Given the description of an element on the screen output the (x, y) to click on. 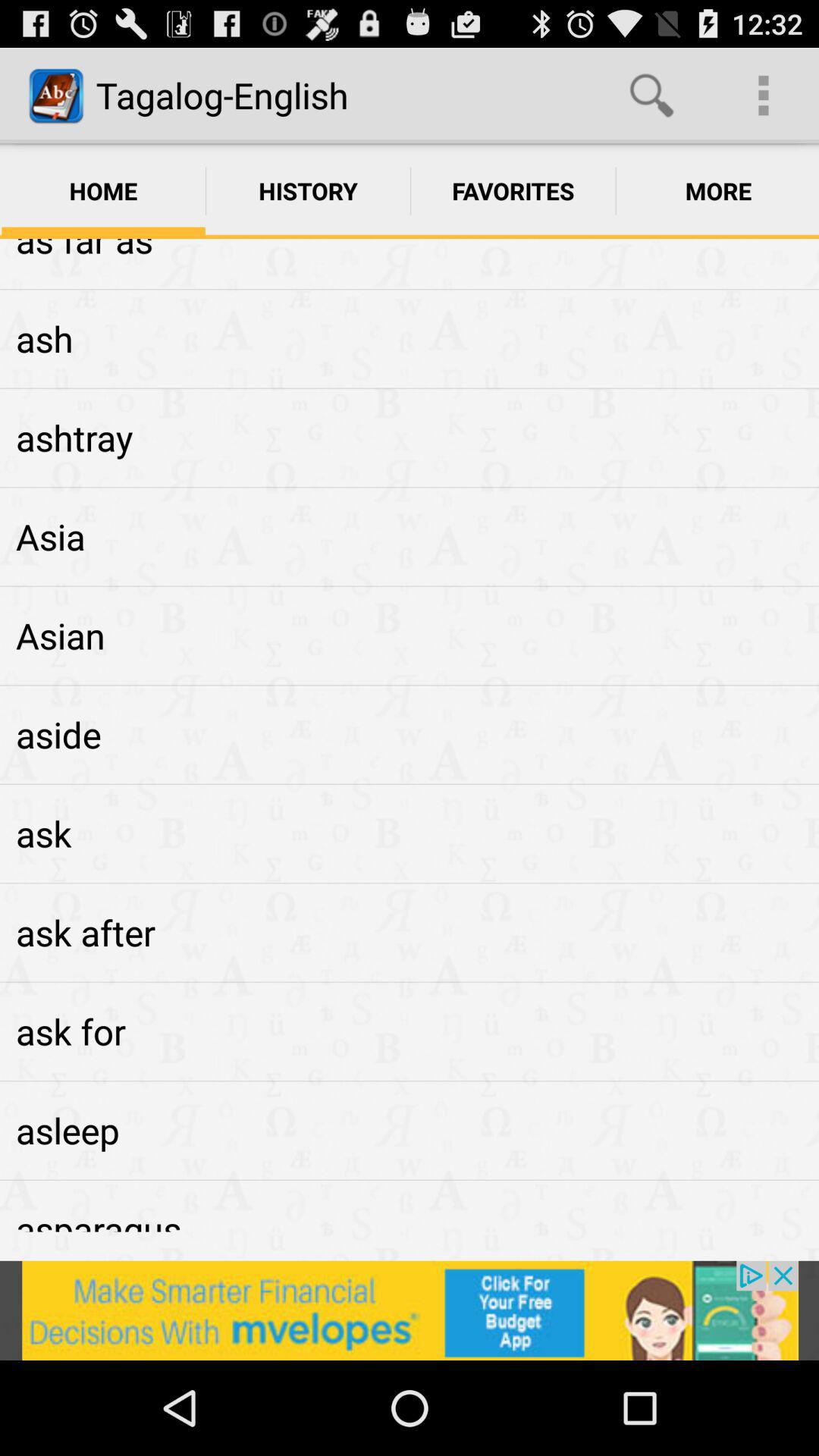
go to advertisement website (409, 1310)
